Given the description of an element on the screen output the (x, y) to click on. 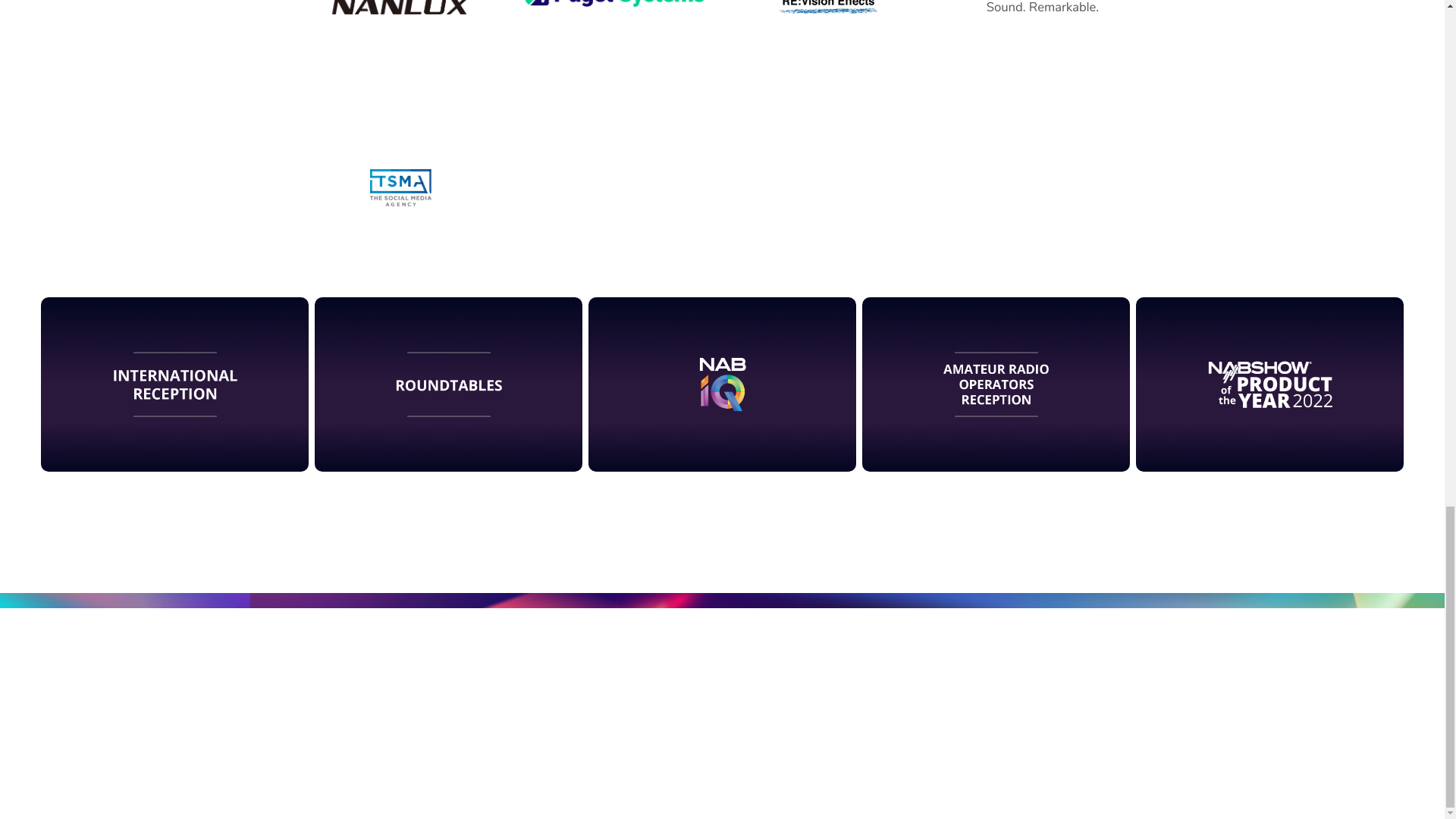
EXHIBITING SPONSOR (1042, 34)
EXHIBITING SPONSOR (400, 168)
EXHIBITING SPONSOR (400, 34)
EXHIBITING SPONSOR (828, 34)
EXHIBITING SPONSOR (614, 34)
